Given the description of an element on the screen output the (x, y) to click on. 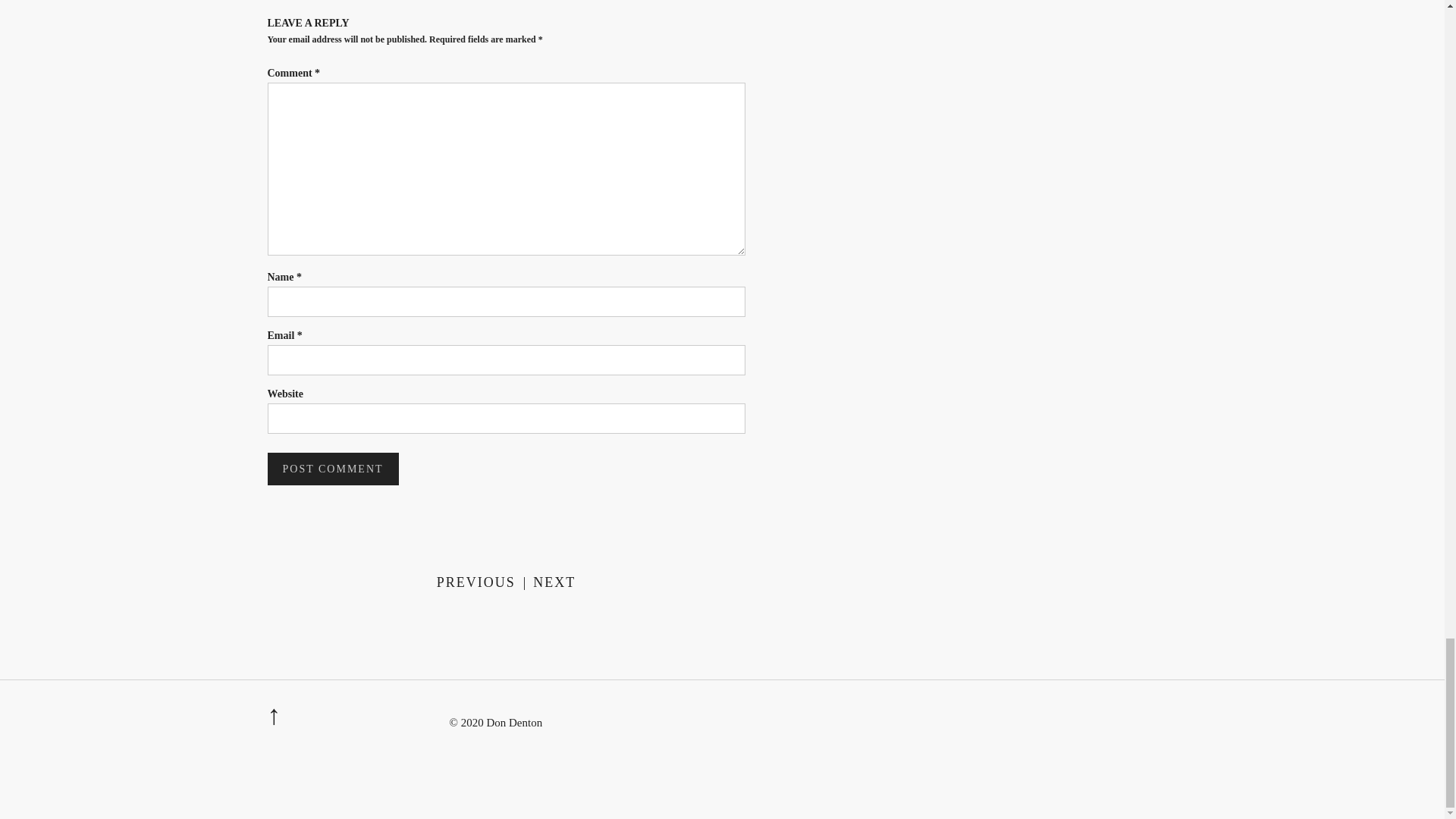
PREVIOUS (475, 582)
NEXT (553, 581)
Post Comment (331, 468)
Post Comment (331, 468)
